Given the description of an element on the screen output the (x, y) to click on. 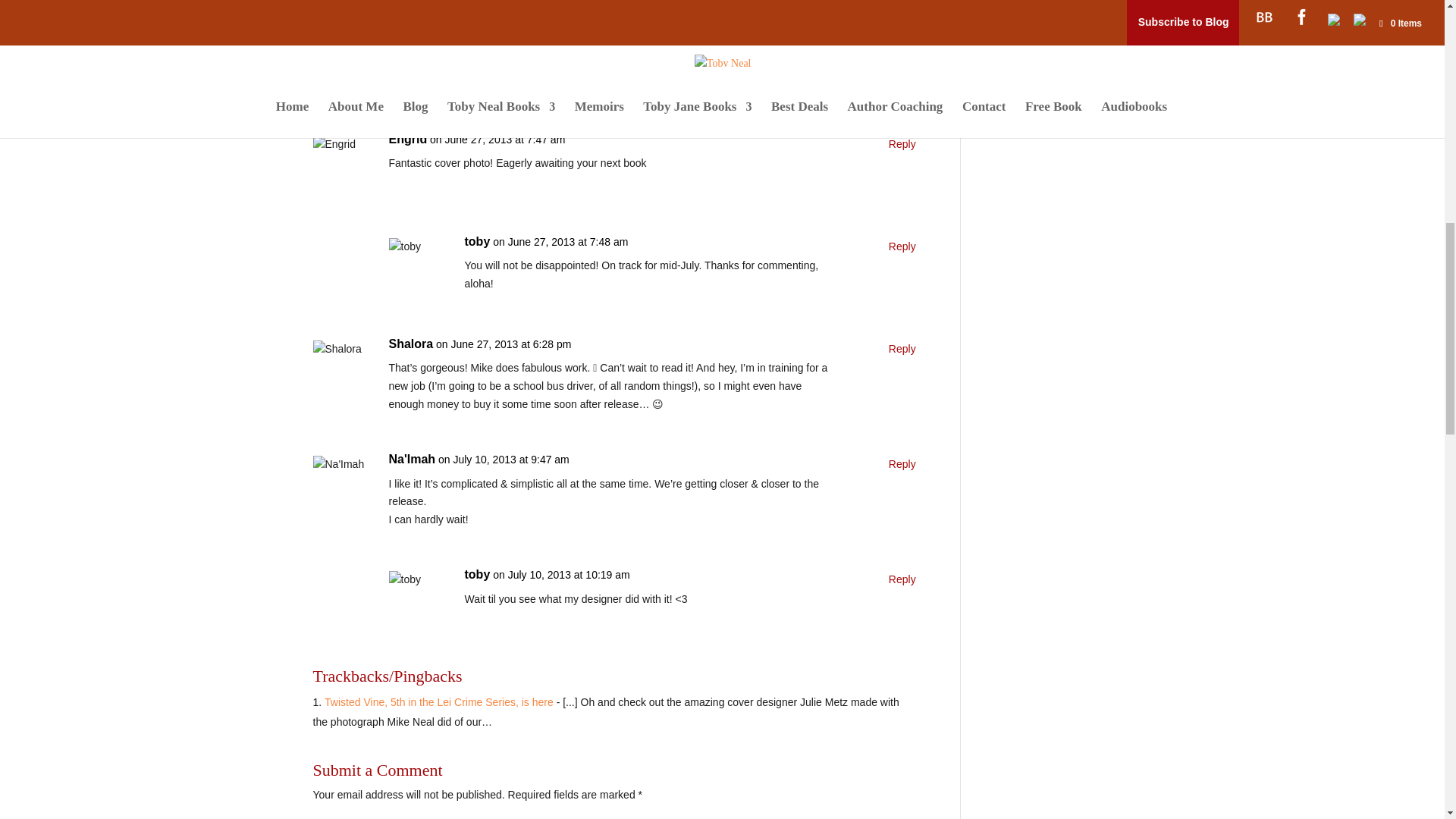
toby (476, 574)
Reply (901, 144)
Twisted Vine, 5th in the Lei Crime Series, is here (438, 702)
toby (476, 241)
Reply (901, 247)
Reply (901, 579)
Reply (901, 349)
Reply (901, 464)
